Given the description of an element on the screen output the (x, y) to click on. 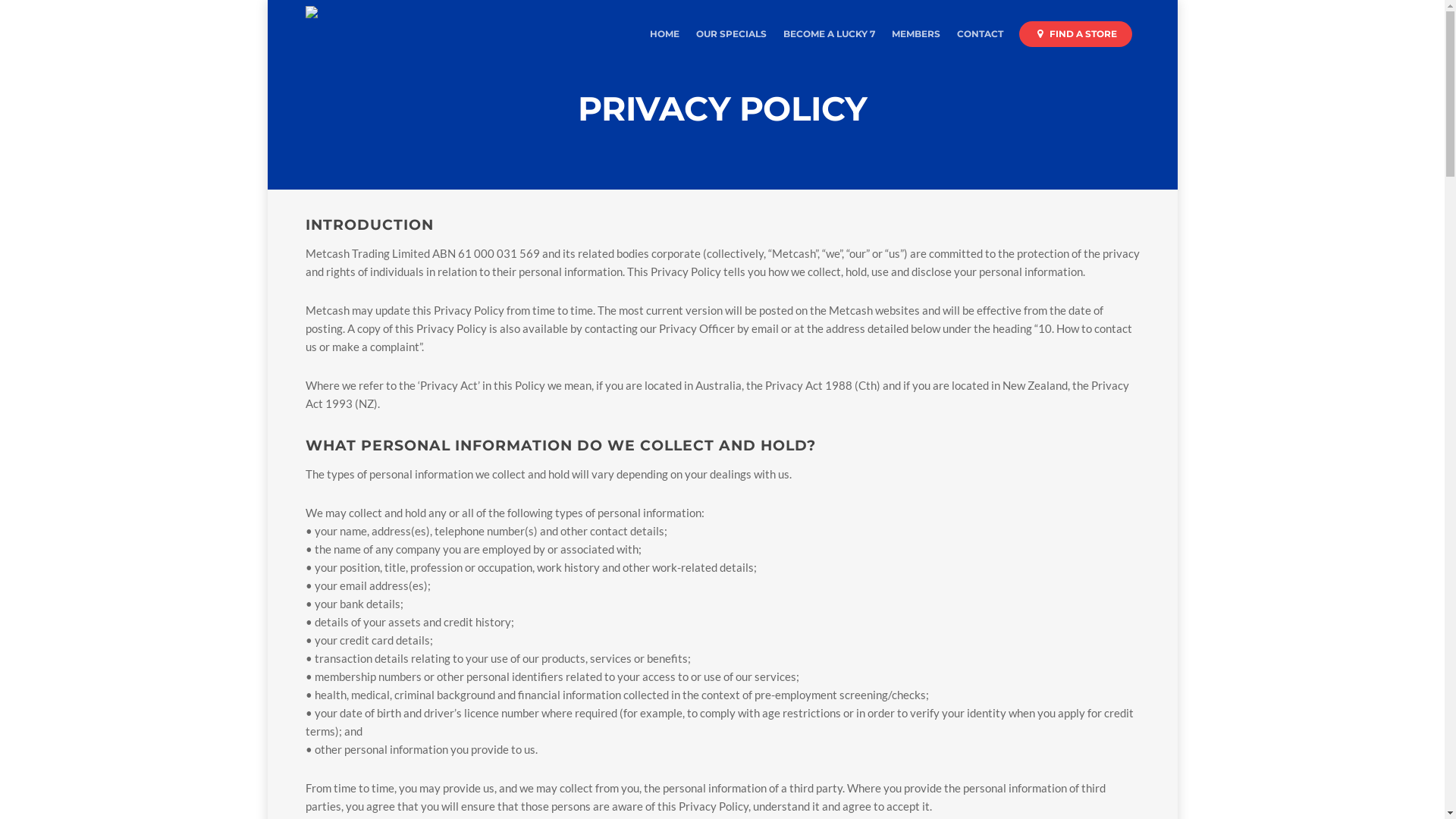
BECOME A LUCKY 7 Element type: text (828, 37)
CONTACT Element type: text (979, 37)
FIND A STORE Element type: text (1075, 37)
MEMBERS Element type: text (915, 37)
HOME Element type: text (663, 37)
OUR SPECIALS Element type: text (731, 37)
